Given the description of an element on the screen output the (x, y) to click on. 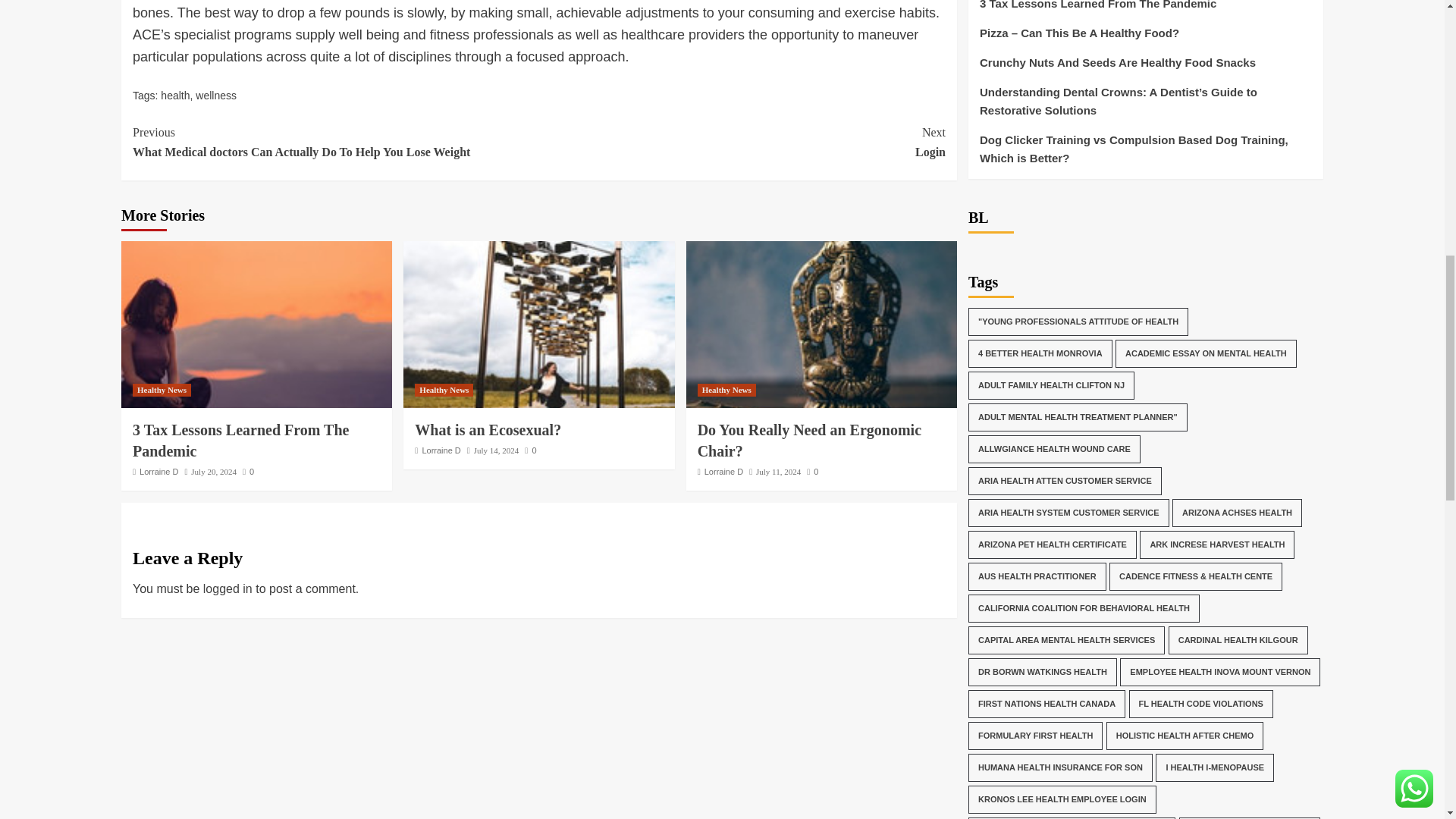
Do You Really Need an Ergonomic Chair? (820, 323)
0 (529, 450)
3 Tax Lessons Learned From The Pandemic (255, 323)
0 (248, 470)
Healthy News (161, 390)
July 20, 2024 (212, 470)
wellness (215, 95)
health (174, 95)
What is an Ecosexual? (538, 323)
